Given the description of an element on the screen output the (x, y) to click on. 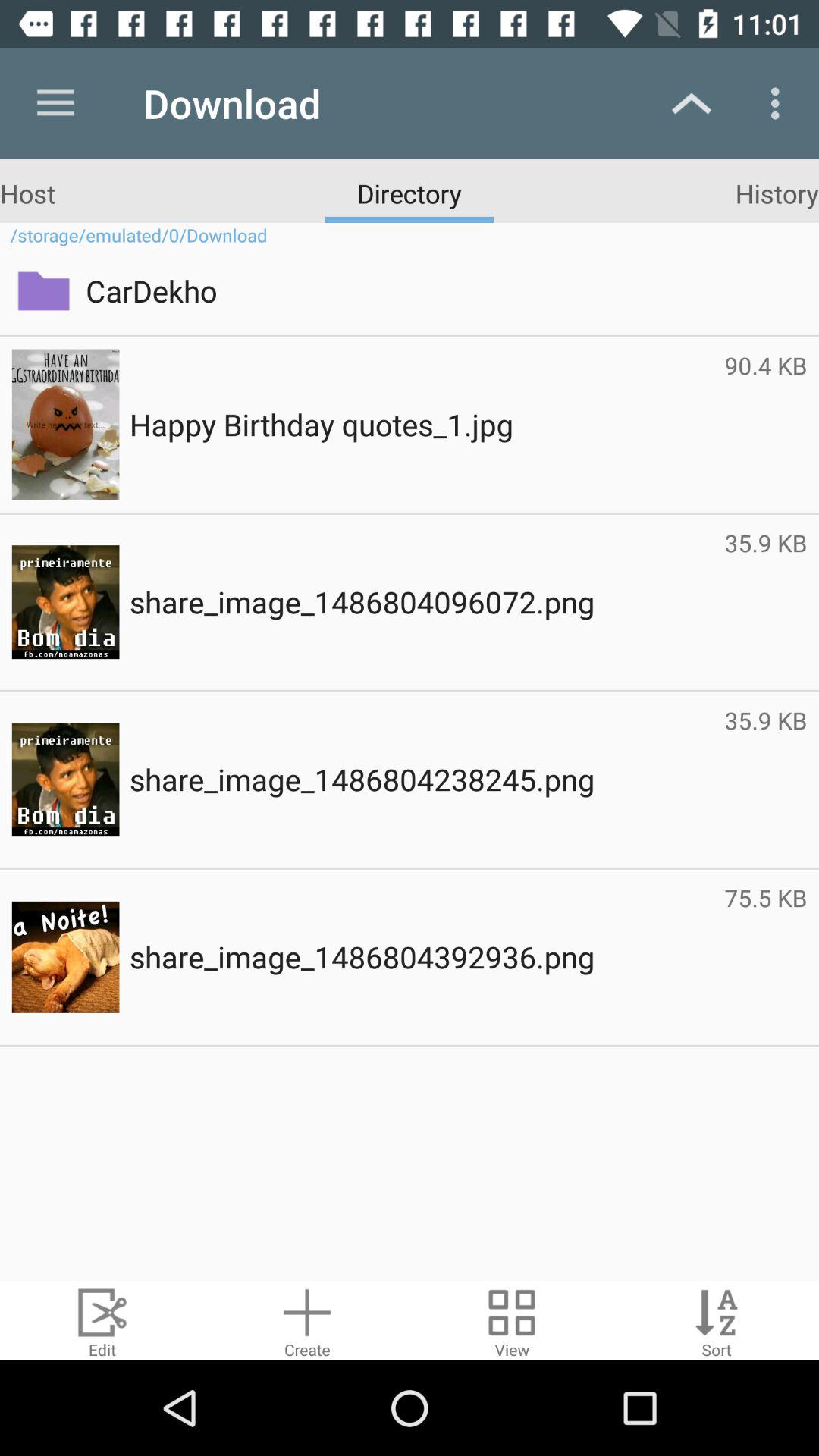
add new folder (306, 1320)
